Given the description of an element on the screen output the (x, y) to click on. 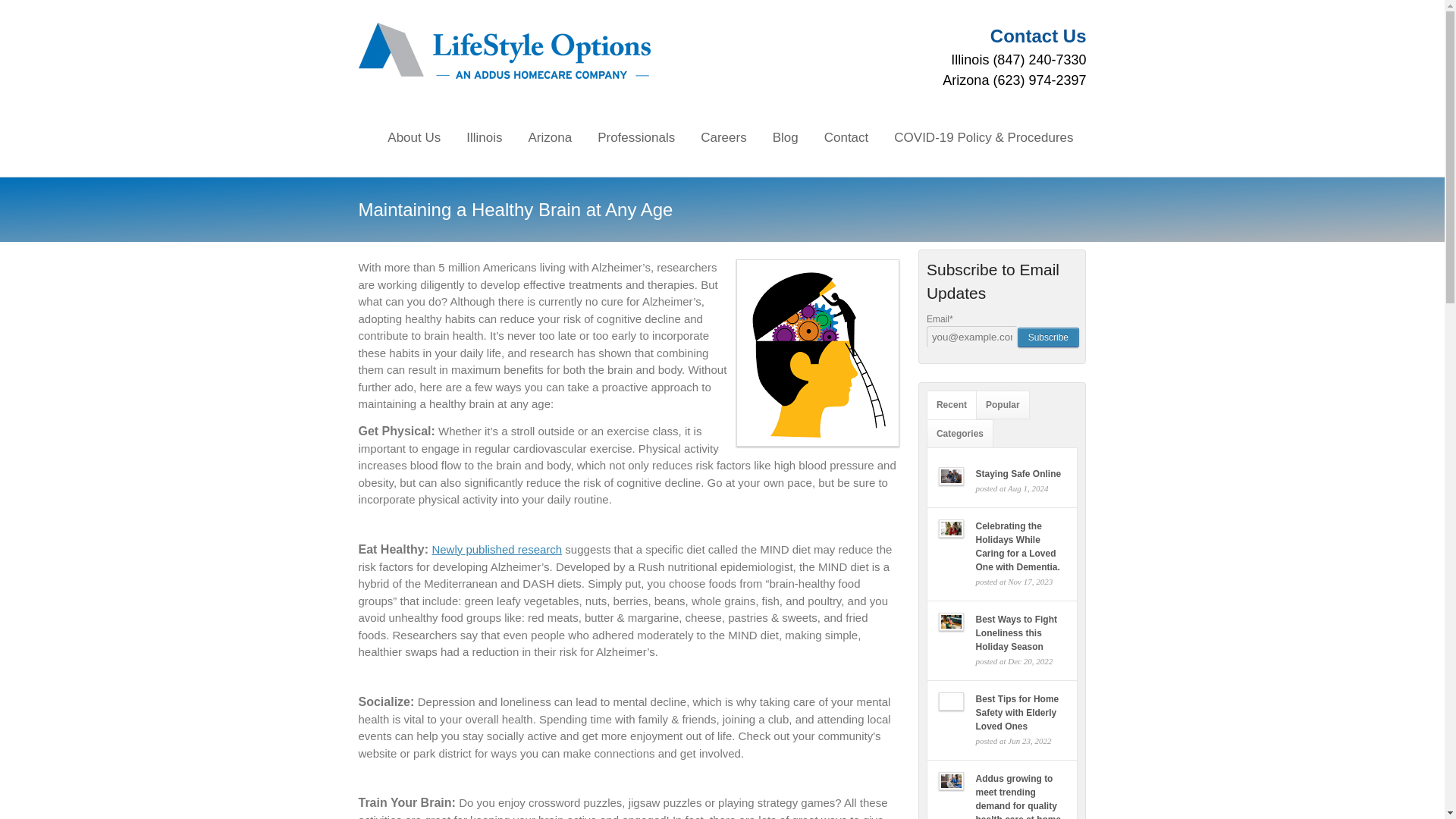
Illinois (484, 137)
Newly published research (496, 549)
Blog (785, 137)
Arizona (549, 137)
Careers (723, 137)
About Us (413, 137)
Contact (846, 137)
Professionals (635, 137)
Subscribe (1047, 337)
